Given the description of an element on the screen output the (x, y) to click on. 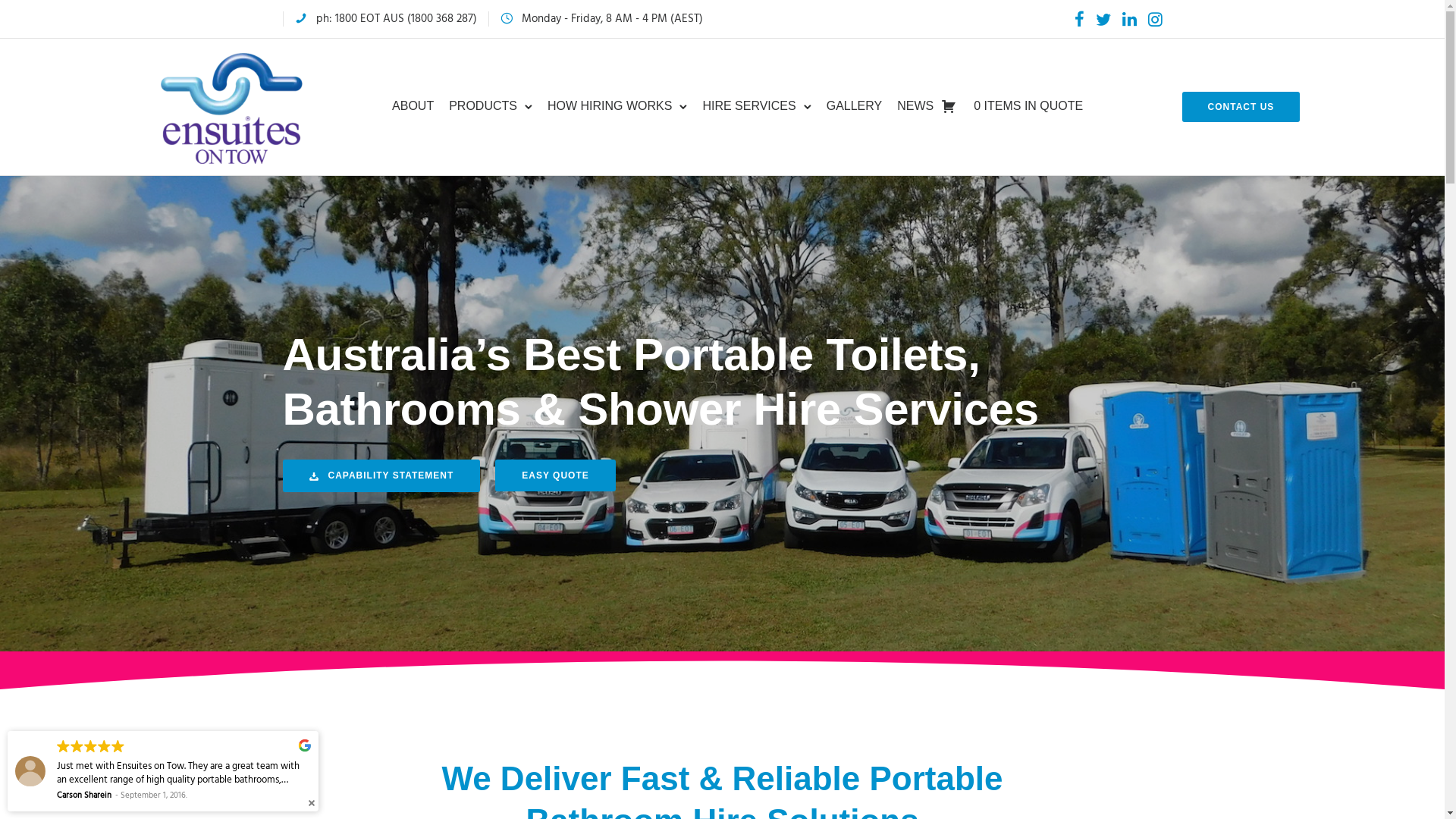
ph: 1800 EOT AUS (1800 368 287) Element type: text (395, 18)
HOW HIRING WORKS Element type: text (609, 105)
Monday - Friday, 8 AM - 4 PM (AEST) Element type: text (611, 18)
HIRE SERVICES Element type: text (748, 105)
CONTACT US Element type: text (1241, 106)
CAPABILITY STATEMENT Element type: text (381, 475)
ABOUT Element type: text (412, 105)
GALLERY Element type: text (854, 105)
NEWS Element type: text (915, 105)
0 ITEMS IN QUOTE Element type: text (963, 105)
EASY QUOTE Element type: text (555, 475)
PRODUCTS Element type: text (482, 105)
